Given the description of an element on the screen output the (x, y) to click on. 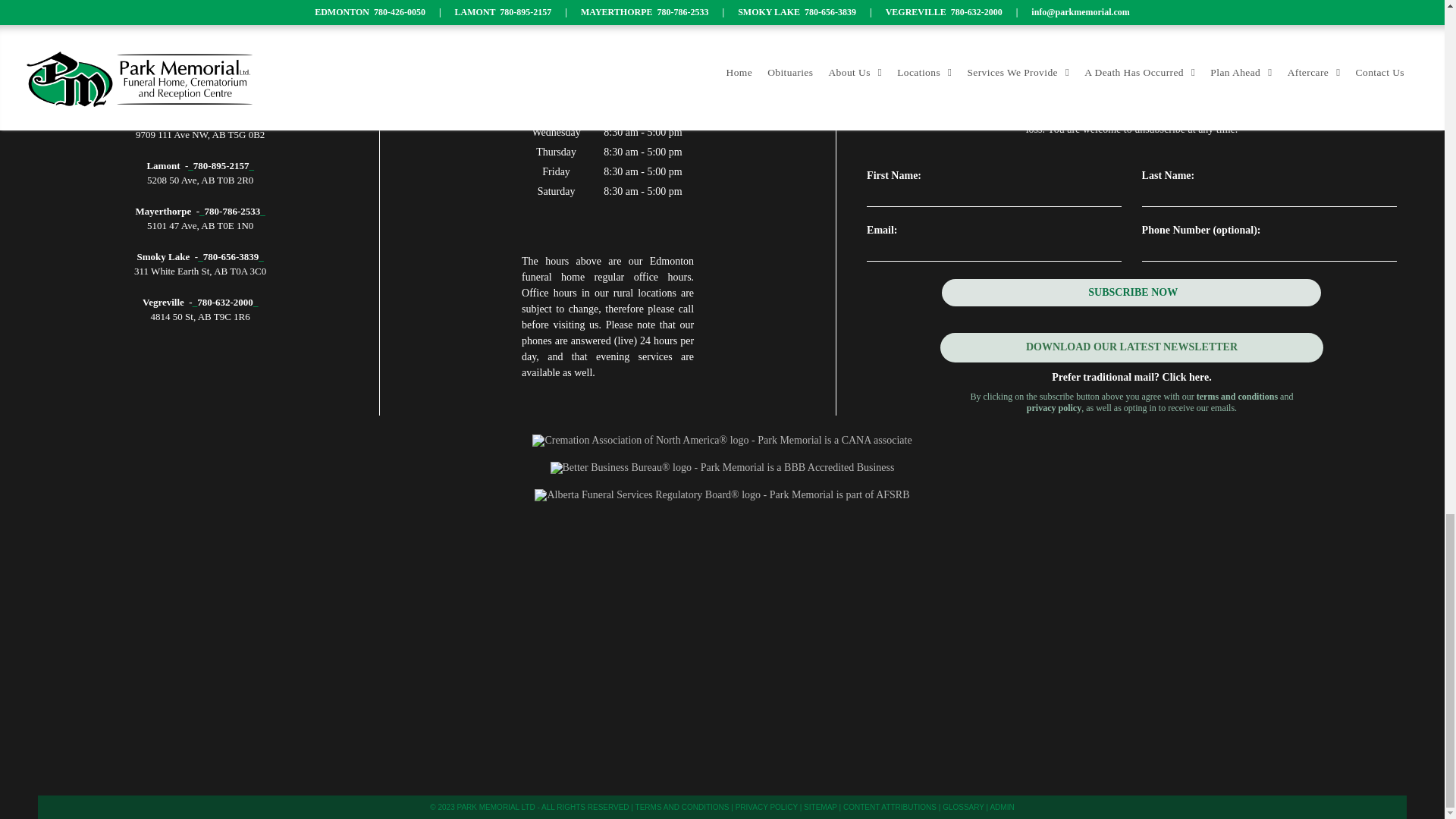
SUBSCRIBE NOW (1133, 292)
